Given the description of an element on the screen output the (x, y) to click on. 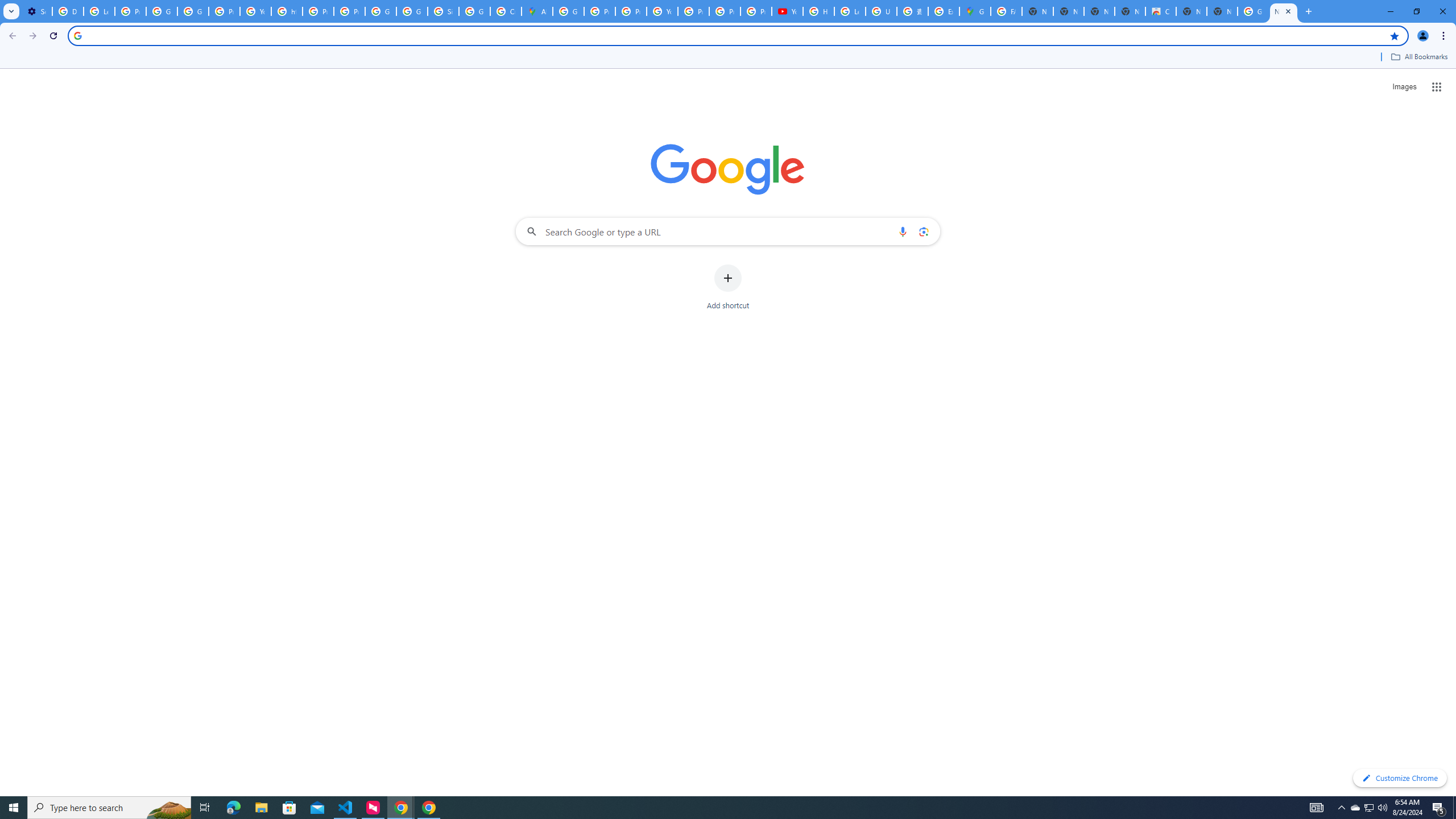
Explore new street-level details - Google Maps Help (943, 11)
YouTube (787, 11)
Google Maps (974, 11)
Google Images (1252, 11)
Settings - On startup (36, 11)
Privacy Help Center - Policies Help (631, 11)
